Given the description of an element on the screen output the (x, y) to click on. 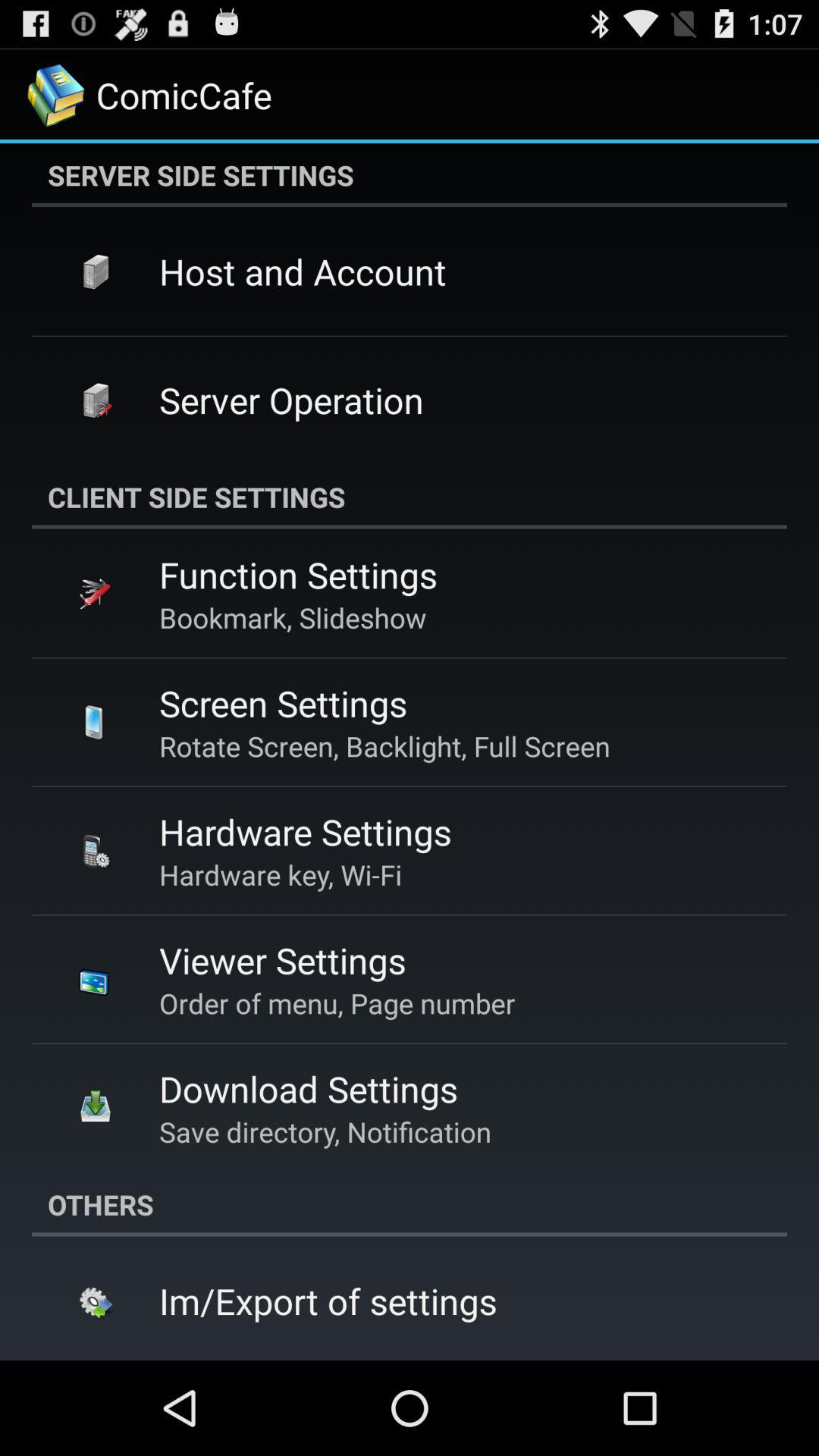
press the hardware key wi item (280, 874)
